Given the description of an element on the screen output the (x, y) to click on. 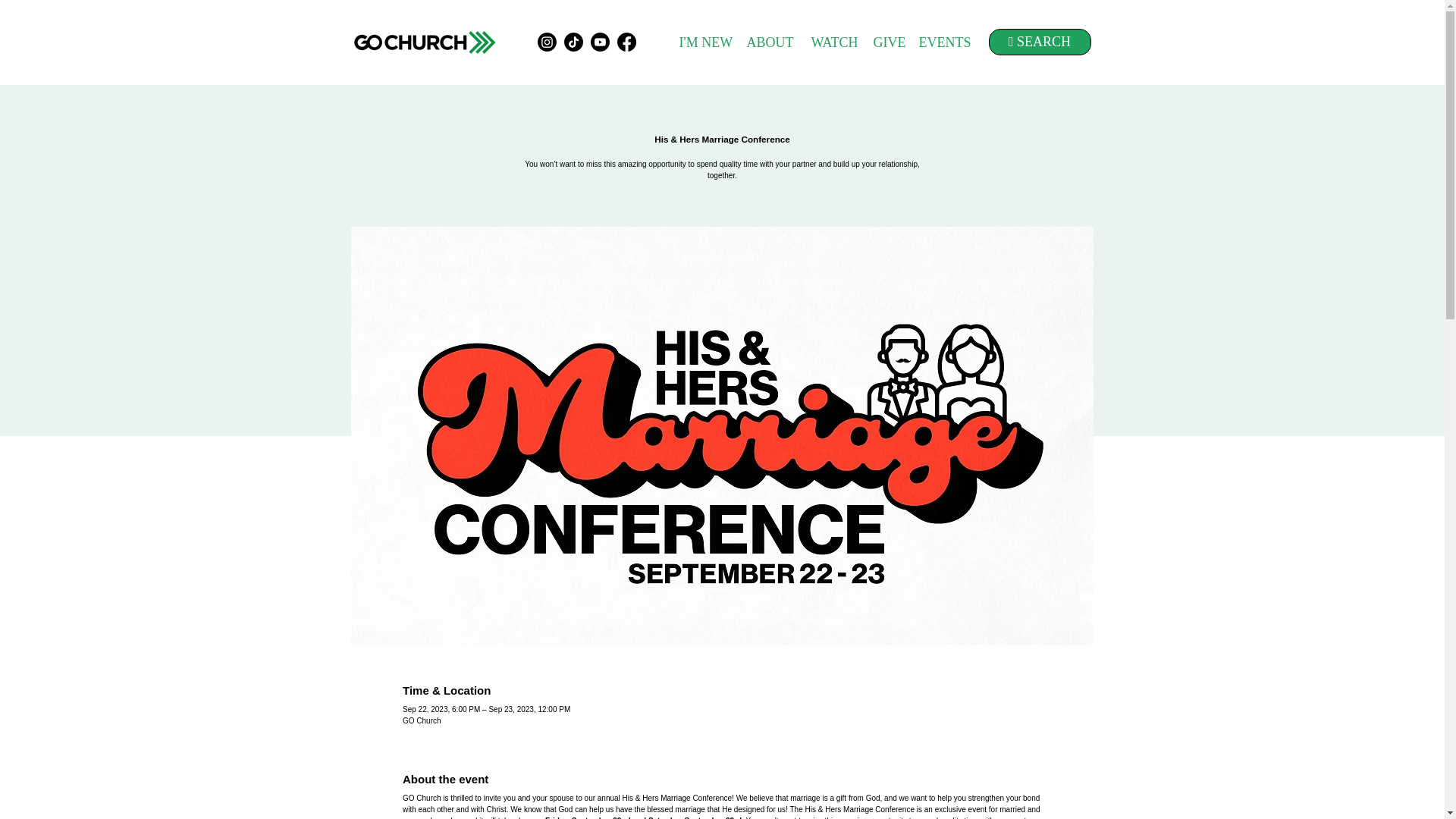
GIVE (888, 42)
I'M NEW (705, 42)
ABOUT (769, 42)
WATCH (832, 42)
EVENTS (944, 42)
